Given the description of an element on the screen output the (x, y) to click on. 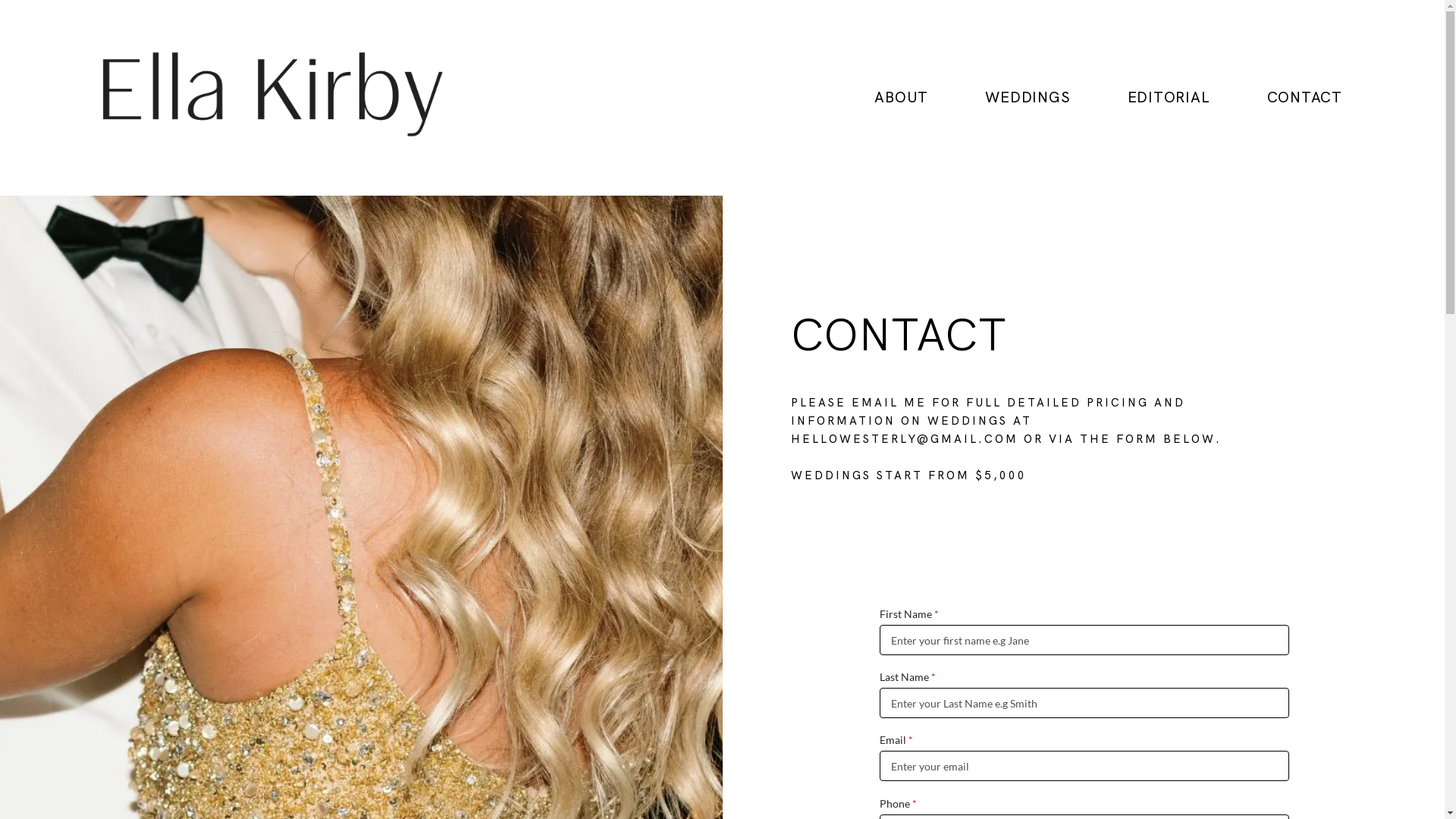
WEDDINGS Element type: text (1027, 97)
ABOUT Element type: text (901, 97)
EDITORIAL Element type: text (1167, 97)
CONTACT Element type: text (1304, 97)
